Given the description of an element on the screen output the (x, y) to click on. 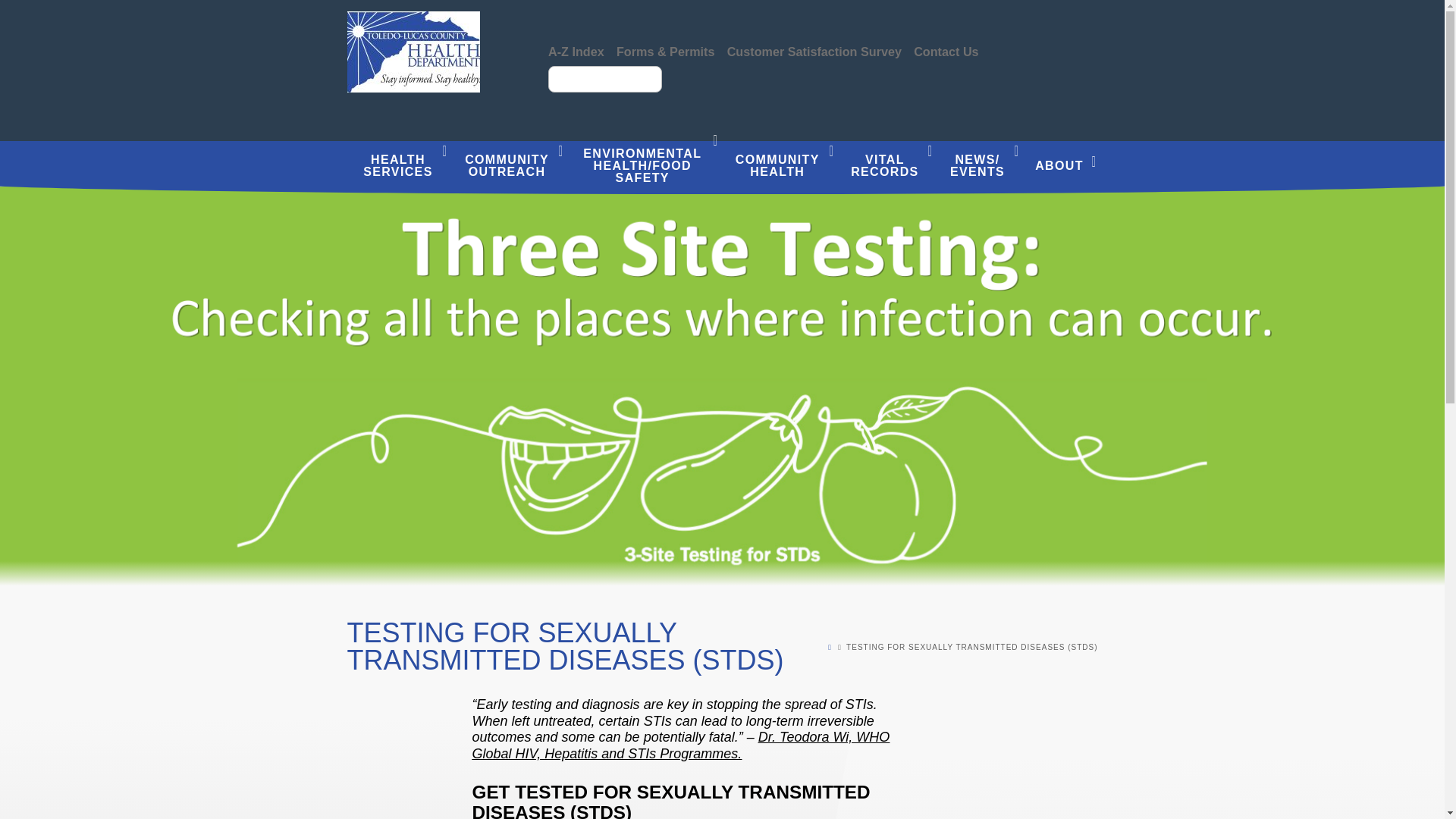
Customer Satisfaction Survey (813, 51)
Contact Us (946, 51)
HEALTH SERVICES (397, 167)
COMMUNITY OUTREACH (506, 167)
Stay informed. Stay healthy. (413, 51)
A-Z Index (576, 51)
